Given the description of an element on the screen output the (x, y) to click on. 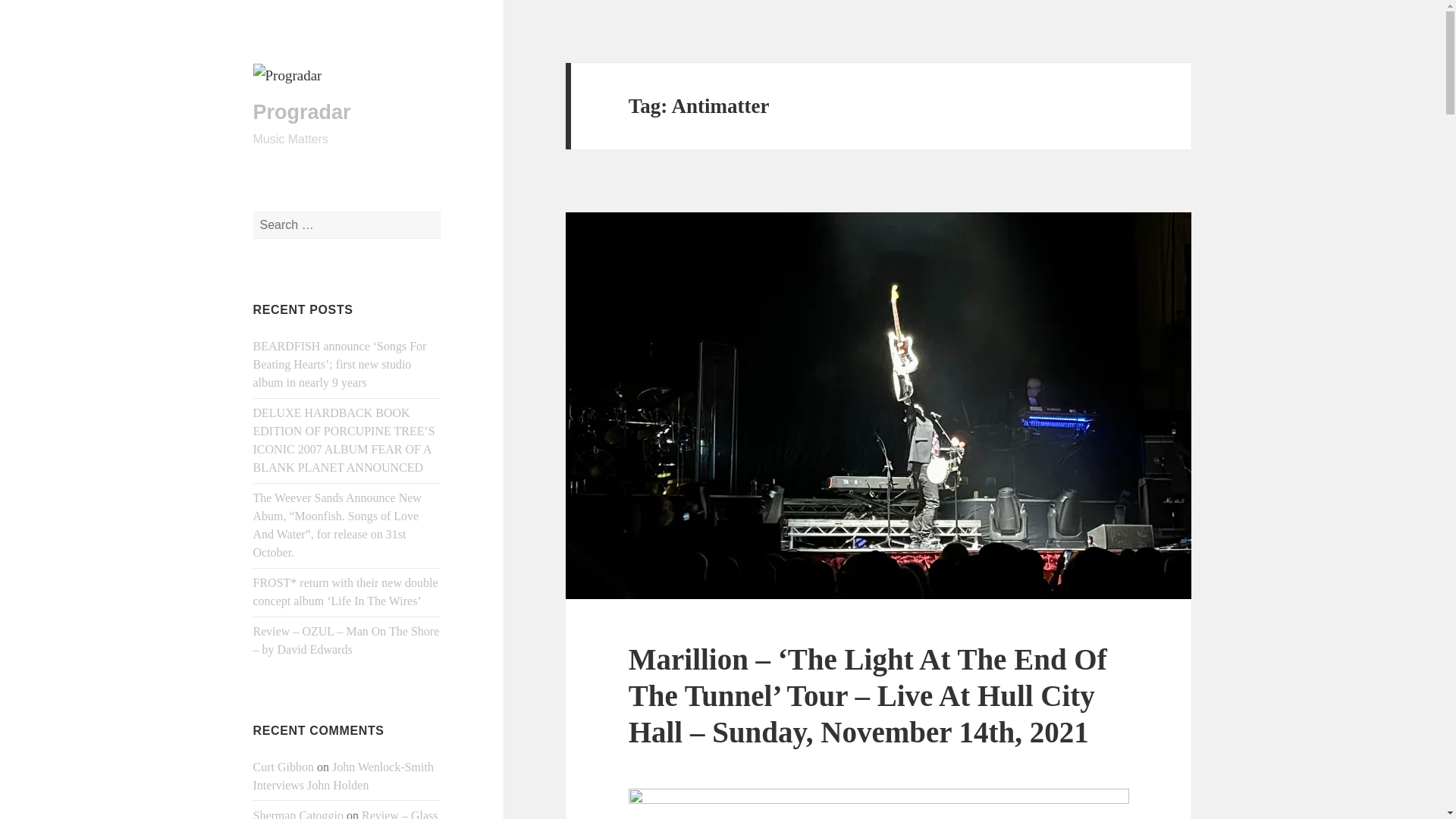
Curt Gibbon (283, 766)
Progradar (301, 111)
Sherman Catoggio (298, 814)
John Wenlock-Smith Interviews John Holden (343, 775)
